Given the description of an element on the screen output the (x, y) to click on. 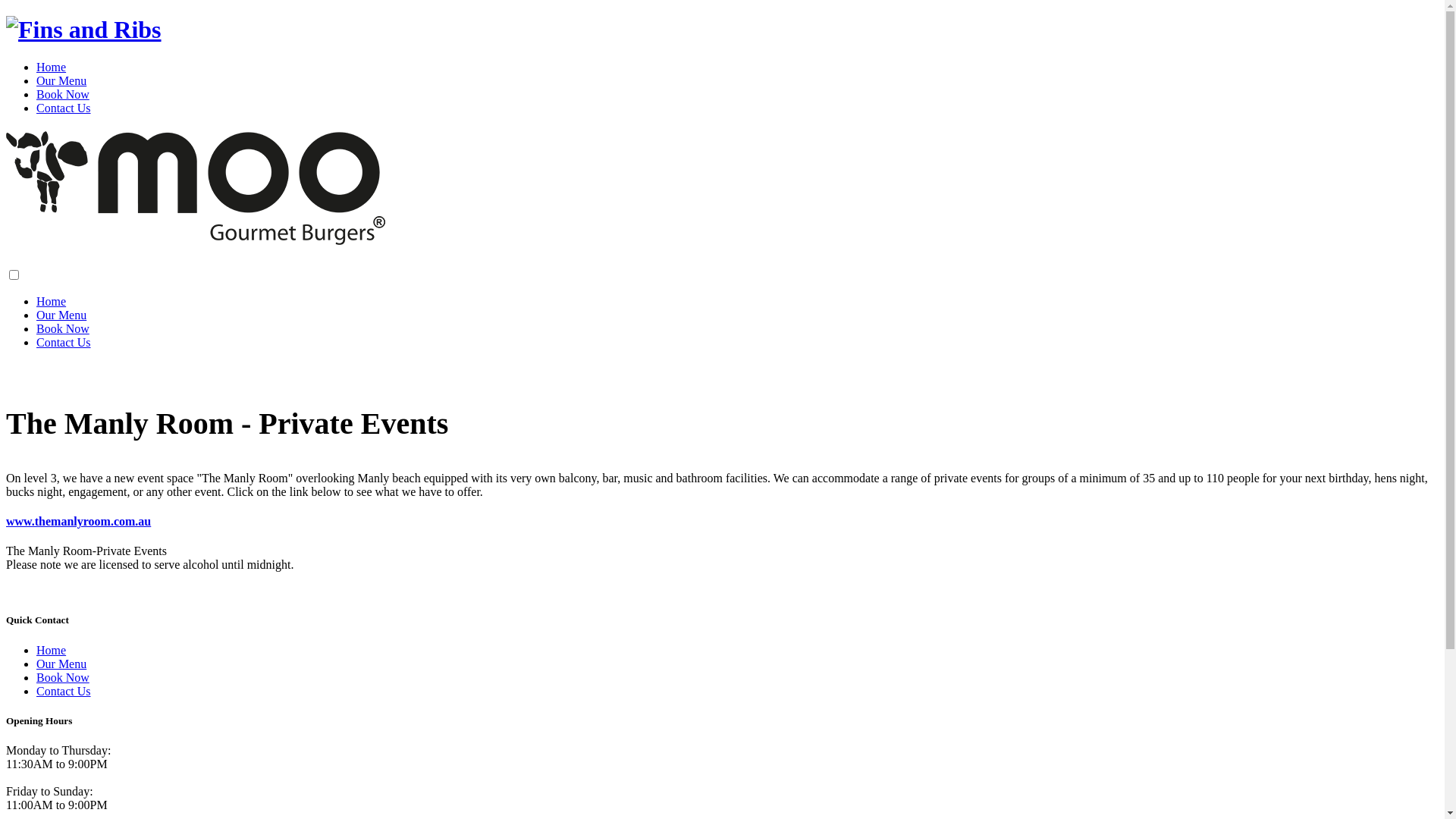
Our Menu Element type: text (61, 314)
Contact Us Element type: text (63, 341)
www.themanlyroom.com.au Element type: text (78, 520)
Book Now Element type: text (62, 328)
Moo Gourmet Burgers Element type: hover (83, 29)
Contact Us Element type: text (63, 690)
Our Menu Element type: text (61, 663)
Home Element type: text (50, 300)
Home Element type: text (50, 649)
Our Menu Element type: text (61, 80)
Moo Gourmet Burgers Element type: hover (195, 236)
Contact Us Element type: text (63, 107)
Home Element type: text (50, 66)
Book Now Element type: text (62, 93)
Book Now Element type: text (62, 677)
